Given the description of an element on the screen output the (x, y) to click on. 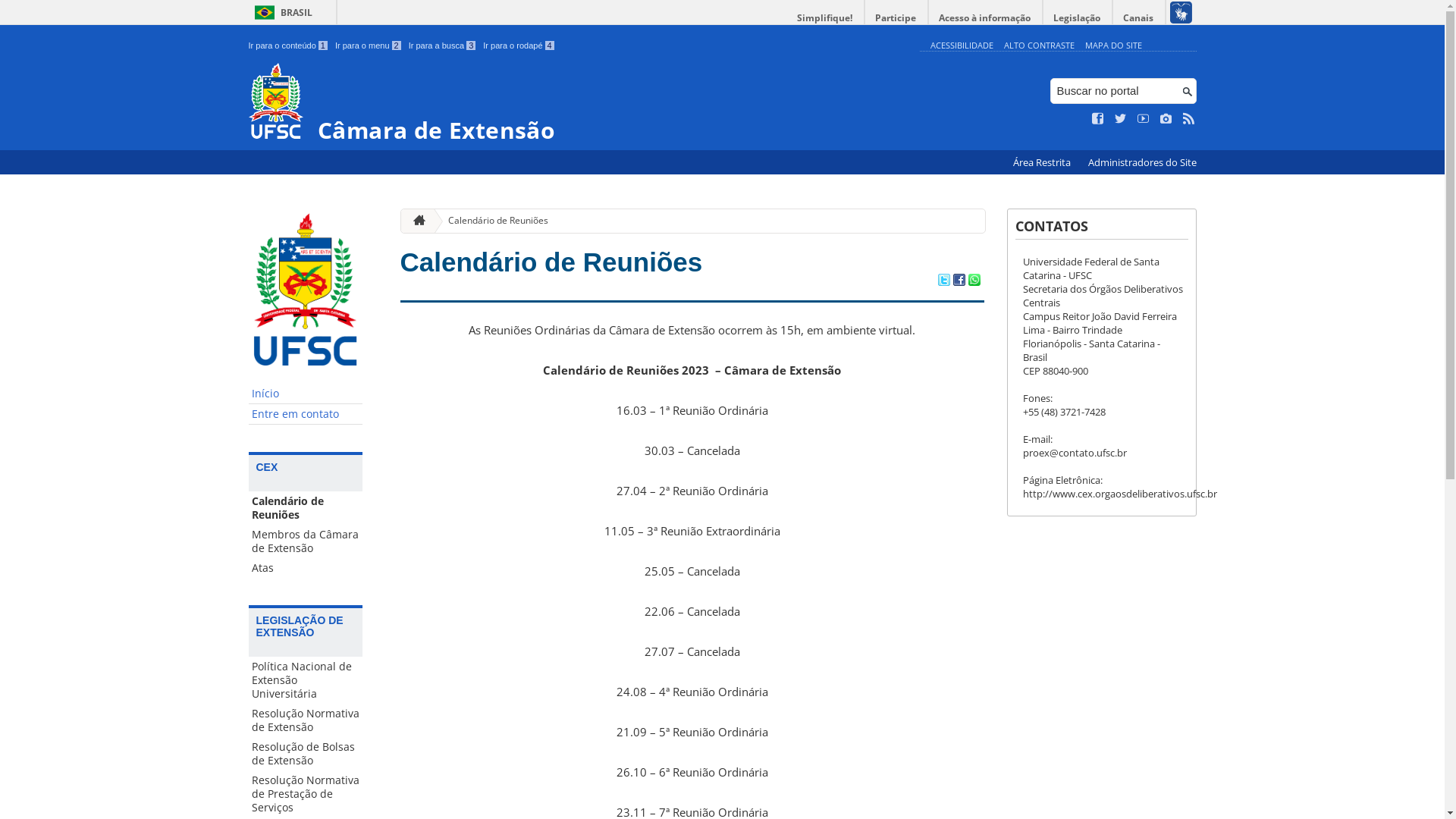
MAPA DO SITE Element type: text (1112, 44)
Ir para o menu 2 Element type: text (368, 45)
Participe Element type: text (895, 18)
Curta no Facebook Element type: hover (1098, 118)
Simplifique! Element type: text (825, 18)
Compartilhar no Twitter Element type: hover (943, 280)
ALTO CONTRASTE Element type: text (1039, 44)
BRASIL Element type: text (280, 12)
Compartilhar no Facebook Element type: hover (958, 280)
Ir para a busca 3 Element type: text (442, 45)
Siga no Twitter Element type: hover (1120, 118)
Veja no Instagram Element type: hover (1166, 118)
Administradores do Site Element type: text (1141, 162)
Canais Element type: text (1138, 18)
Compartilhar no WhatsApp Element type: hover (973, 280)
Atas Element type: text (305, 567)
Entre em contato Element type: text (305, 414)
ACESSIBILIDADE Element type: text (960, 44)
